Given the description of an element on the screen output the (x, y) to click on. 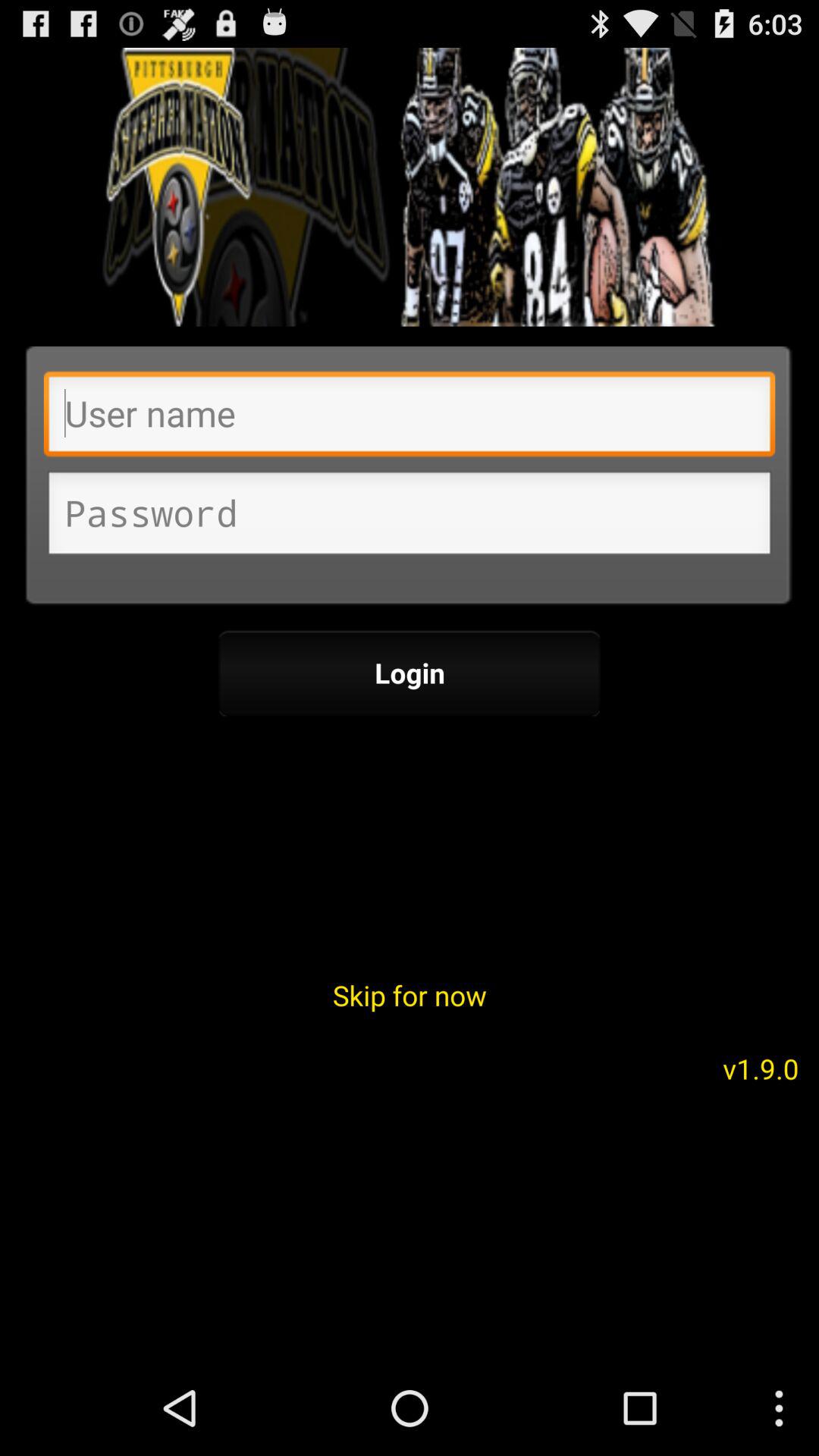
input password (409, 517)
